Given the description of an element on the screen output the (x, y) to click on. 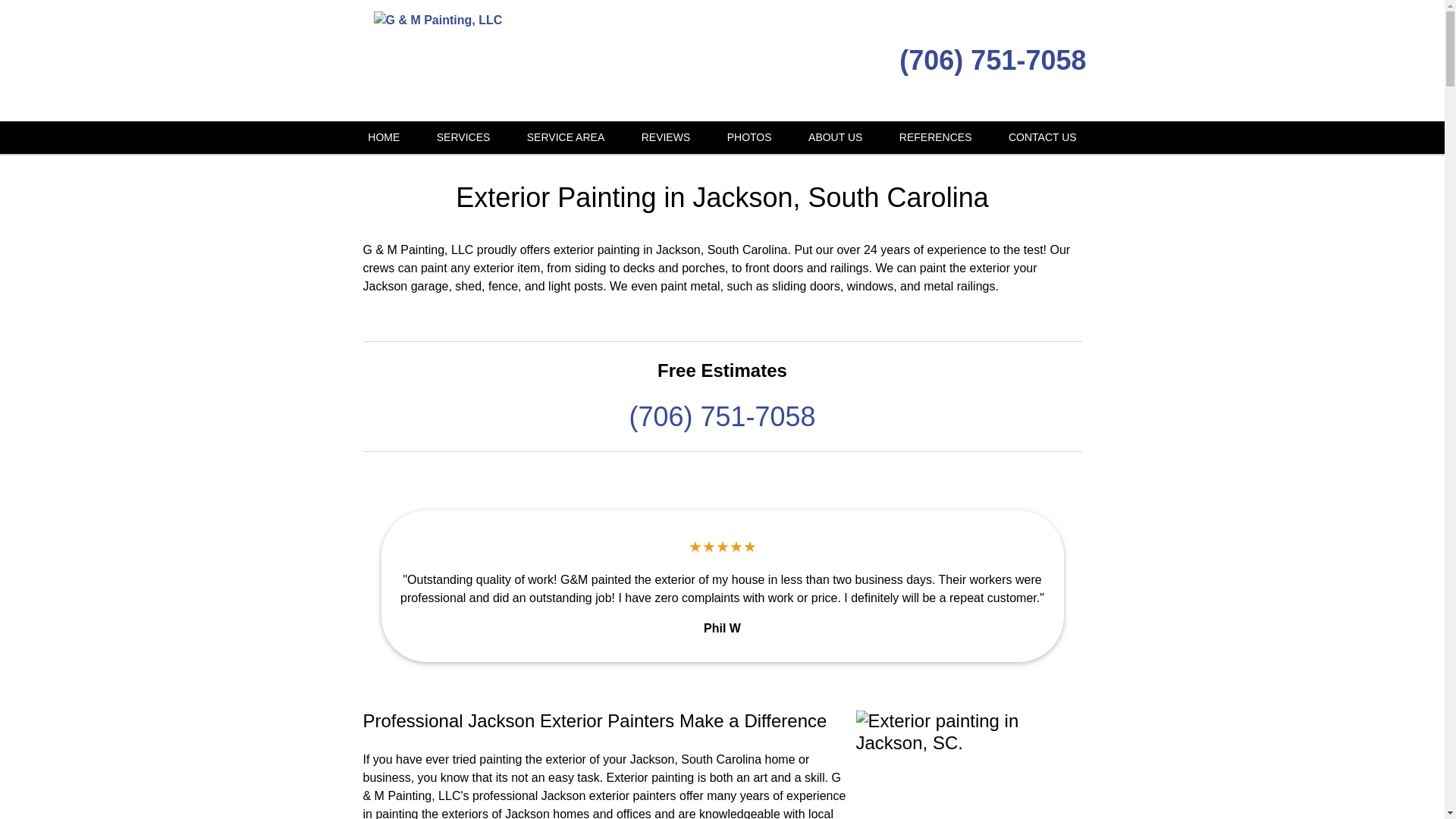
REFERENCES (935, 137)
SERVICES (463, 137)
CONTACT US (1042, 137)
ABOUT US (835, 137)
PHOTOS (749, 137)
SERVICE AREA (566, 137)
HOME (383, 137)
REVIEWS (665, 137)
